Given the description of an element on the screen output the (x, y) to click on. 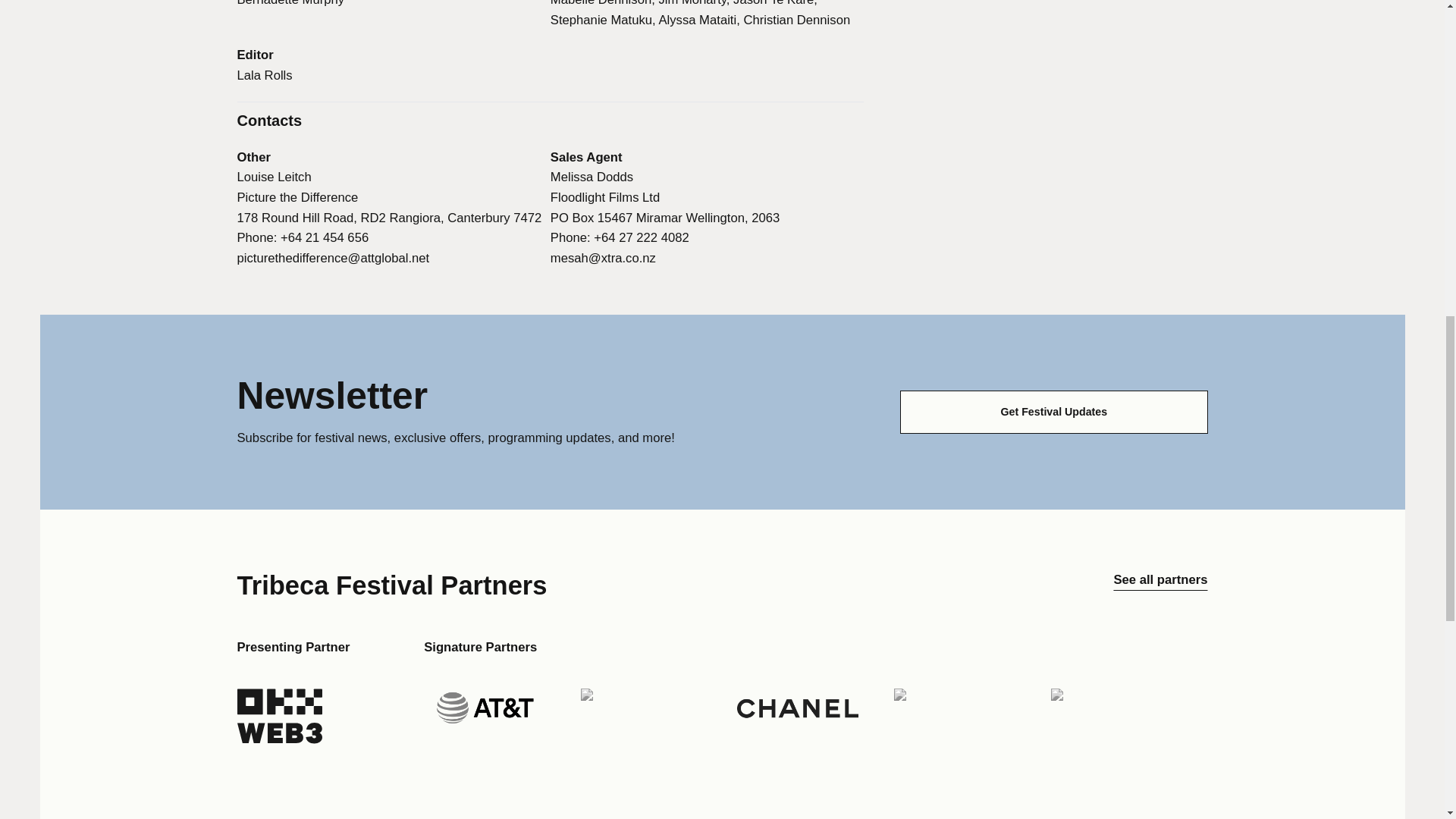
Get Festival Updates (1053, 412)
See all partners (1160, 585)
